Given the description of an element on the screen output the (x, y) to click on. 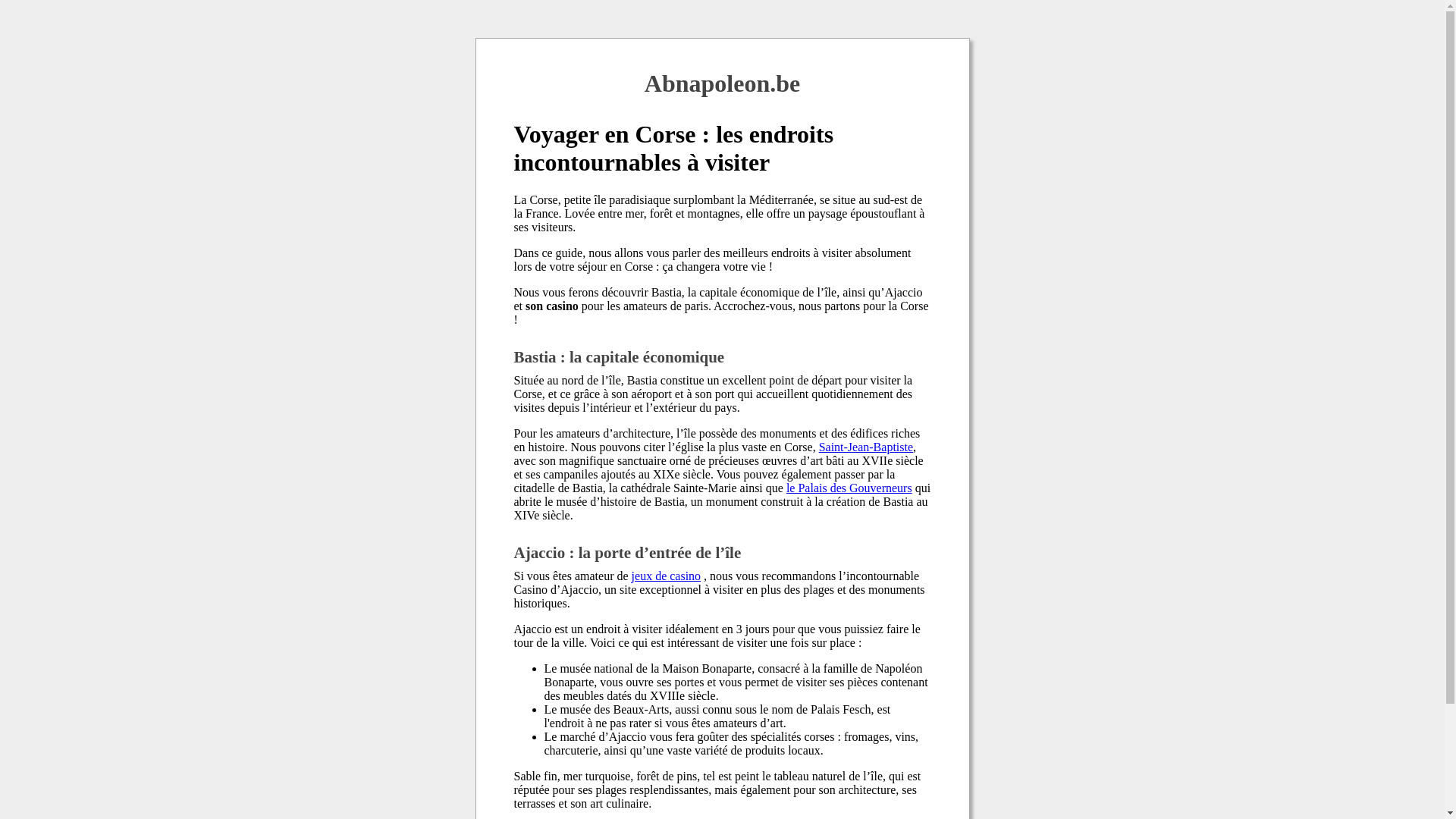
jeux de casino Element type: text (666, 575)
Saint-Jean-Baptiste Element type: text (866, 446)
le Palais des Gouverneurs Element type: text (849, 487)
